Given the description of an element on the screen output the (x, y) to click on. 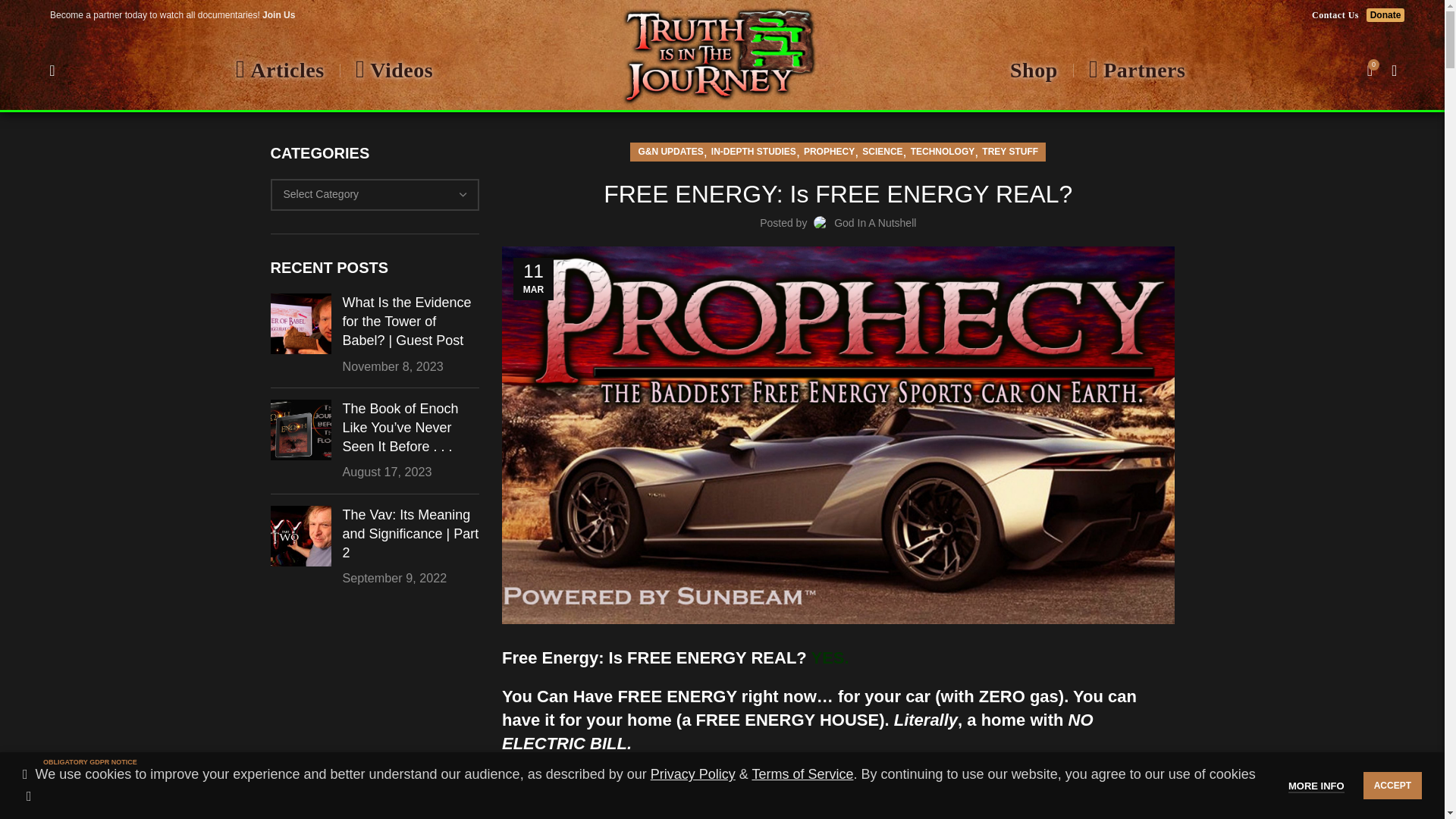
Shop (1031, 70)
Become a partner today to watch all documentaries! Join Us (171, 14)
God In A Nutshell (874, 223)
Shopping cart (1369, 69)
Donate (1385, 14)
Partners (1137, 70)
Articles (279, 69)
IN-DEPTH STUDIES (753, 151)
PROPHECY (828, 151)
Videos (393, 69)
0 (1369, 69)
Contact Us (1334, 15)
TREY STUFF (1009, 151)
SCIENCE (881, 151)
TECHNOLOGY (943, 151)
